Given the description of an element on the screen output the (x, y) to click on. 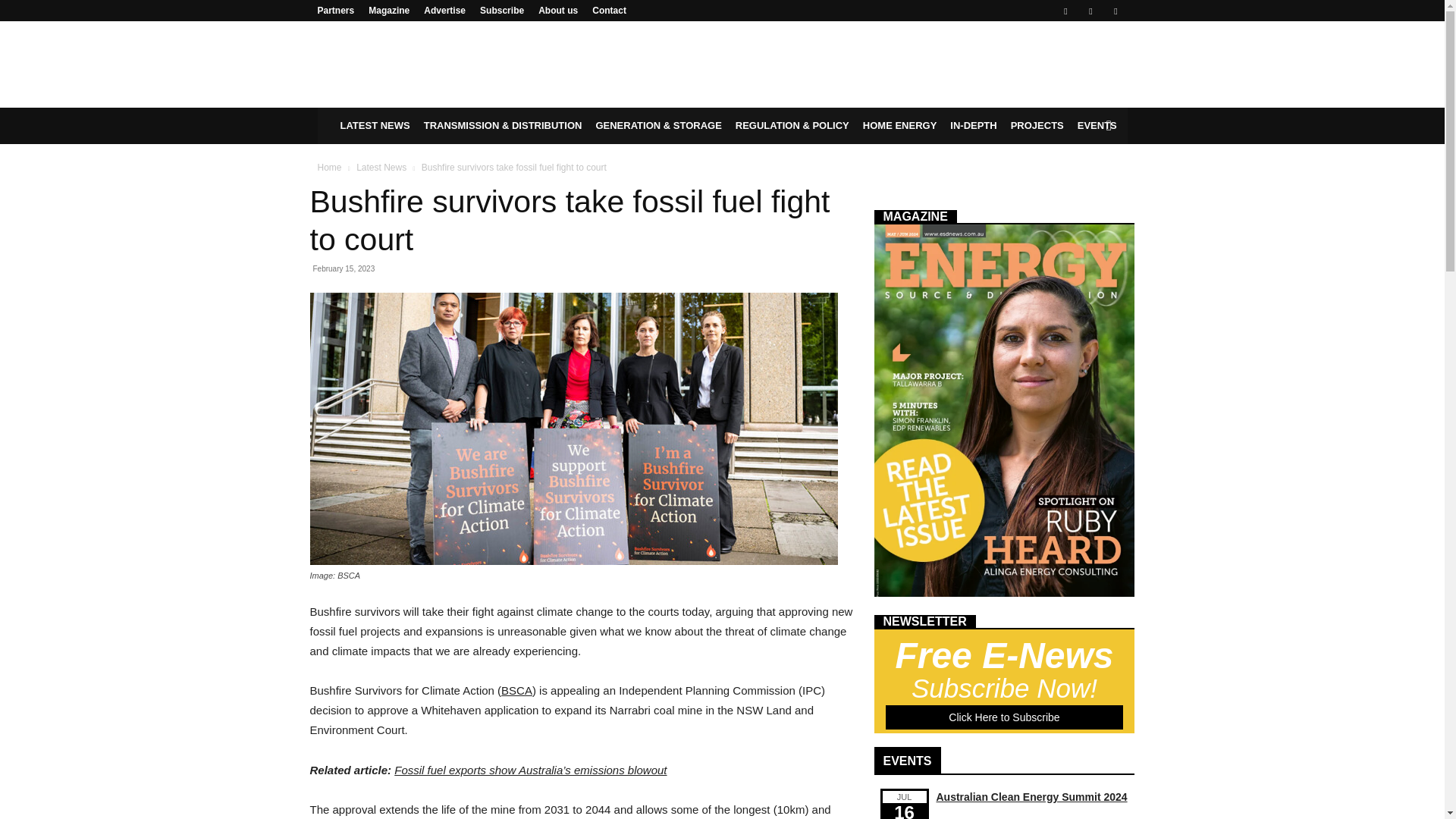
Linkedin (1090, 10)
Magazine (388, 9)
Home (328, 167)
IN-DEPTH (973, 125)
Search (1085, 186)
Facebook (1065, 10)
View all posts in Latest News (381, 167)
LATEST NEWS (374, 125)
Advertise (444, 9)
Latest News (381, 167)
HOME ENERGY (899, 125)
About us (558, 9)
Partners (335, 9)
Contact (609, 9)
